Given the description of an element on the screen output the (x, y) to click on. 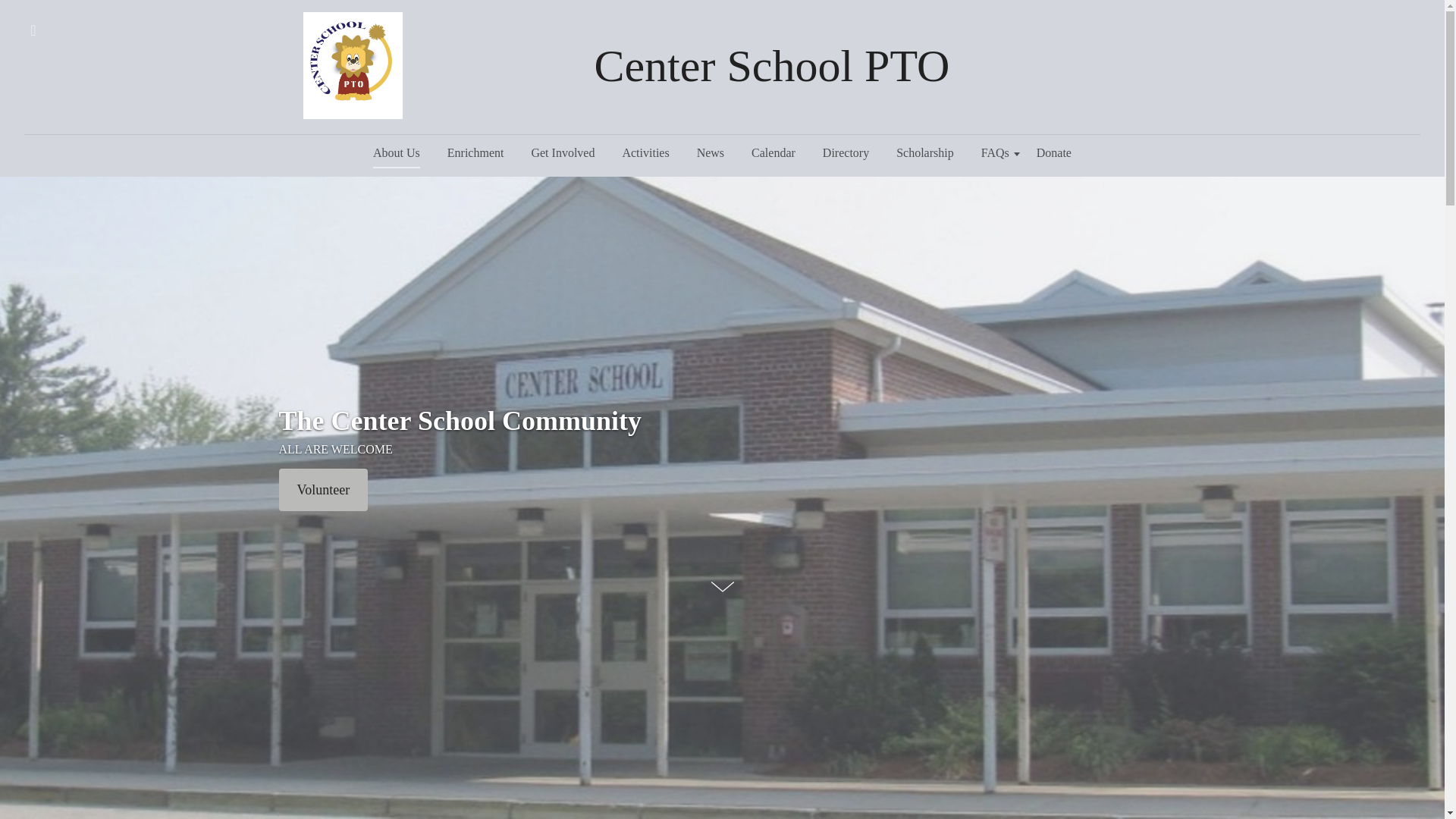
News (710, 153)
Volunteer (323, 489)
Scholarship (924, 153)
Center School PTO (772, 65)
Donate (1054, 153)
Activities (645, 153)
Directory (845, 153)
Calendar (773, 153)
FAQs (995, 153)
About Us (396, 153)
Enrichment (475, 153)
Get Involved (562, 153)
